Given the description of an element on the screen output the (x, y) to click on. 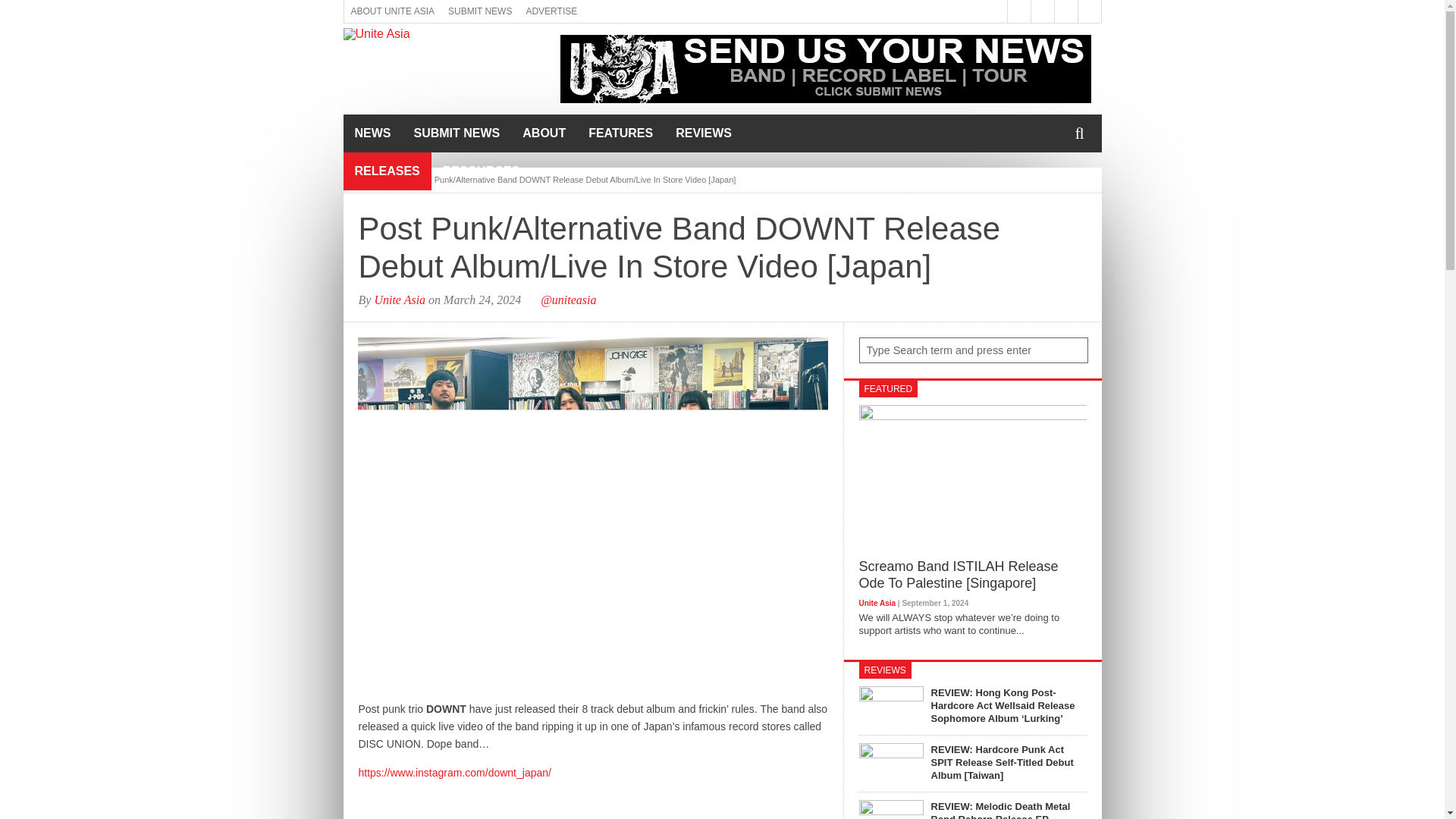
SUBMIT NEWS (479, 11)
ADVERTISE (550, 11)
Posts by Unite Asia (399, 299)
King LyChee (824, 98)
ABOUT UNITE ASIA (392, 11)
ABOUT (543, 133)
SUBMIT NEWS (456, 133)
Type Search term and press enter (973, 350)
NEWS (371, 133)
FEATURES (619, 133)
